Given the description of an element on the screen output the (x, y) to click on. 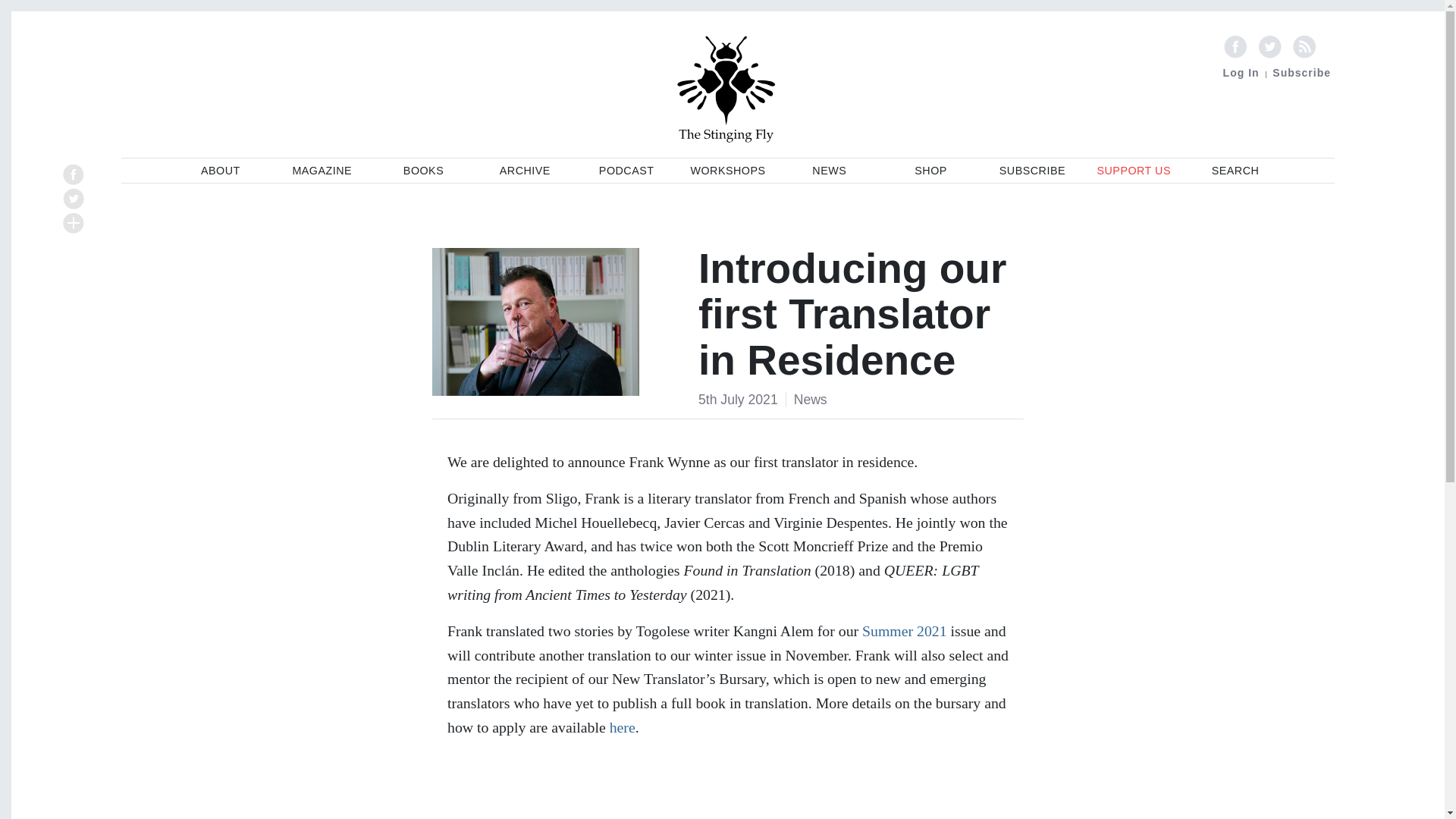
SUPPORT US (1133, 170)
PODCAST (625, 170)
ARCHIVE (524, 170)
SHOP (930, 170)
SUBSCRIBE (1031, 170)
WORKSHOPS (727, 170)
Subscribe (1301, 72)
here (622, 727)
SEARCH (1235, 170)
MAGAZINE (322, 170)
